Given the description of an element on the screen output the (x, y) to click on. 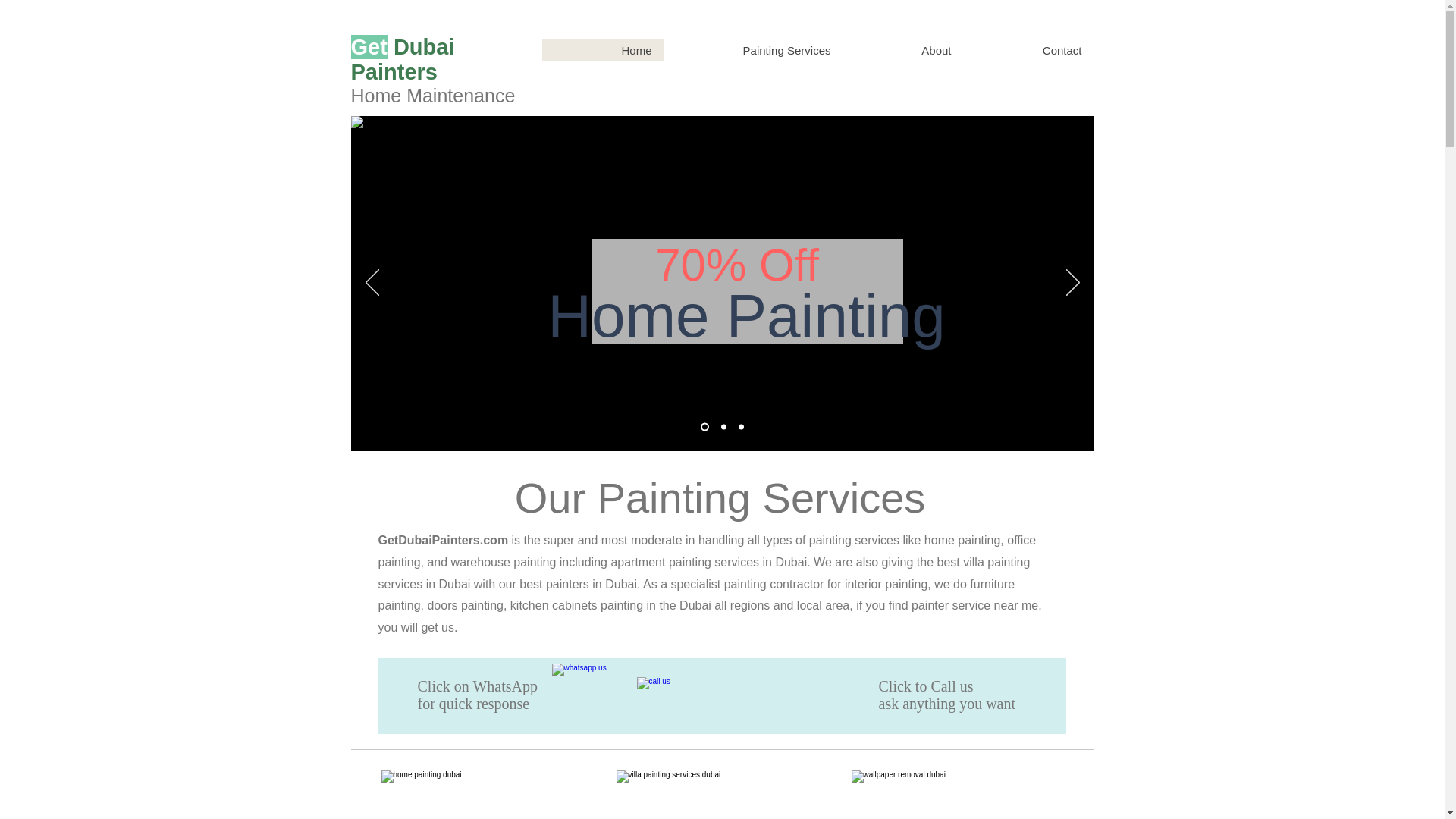
Contact (1027, 50)
Painting Services (751, 50)
About (901, 50)
Home (601, 50)
